Given the description of an element on the screen output the (x, y) to click on. 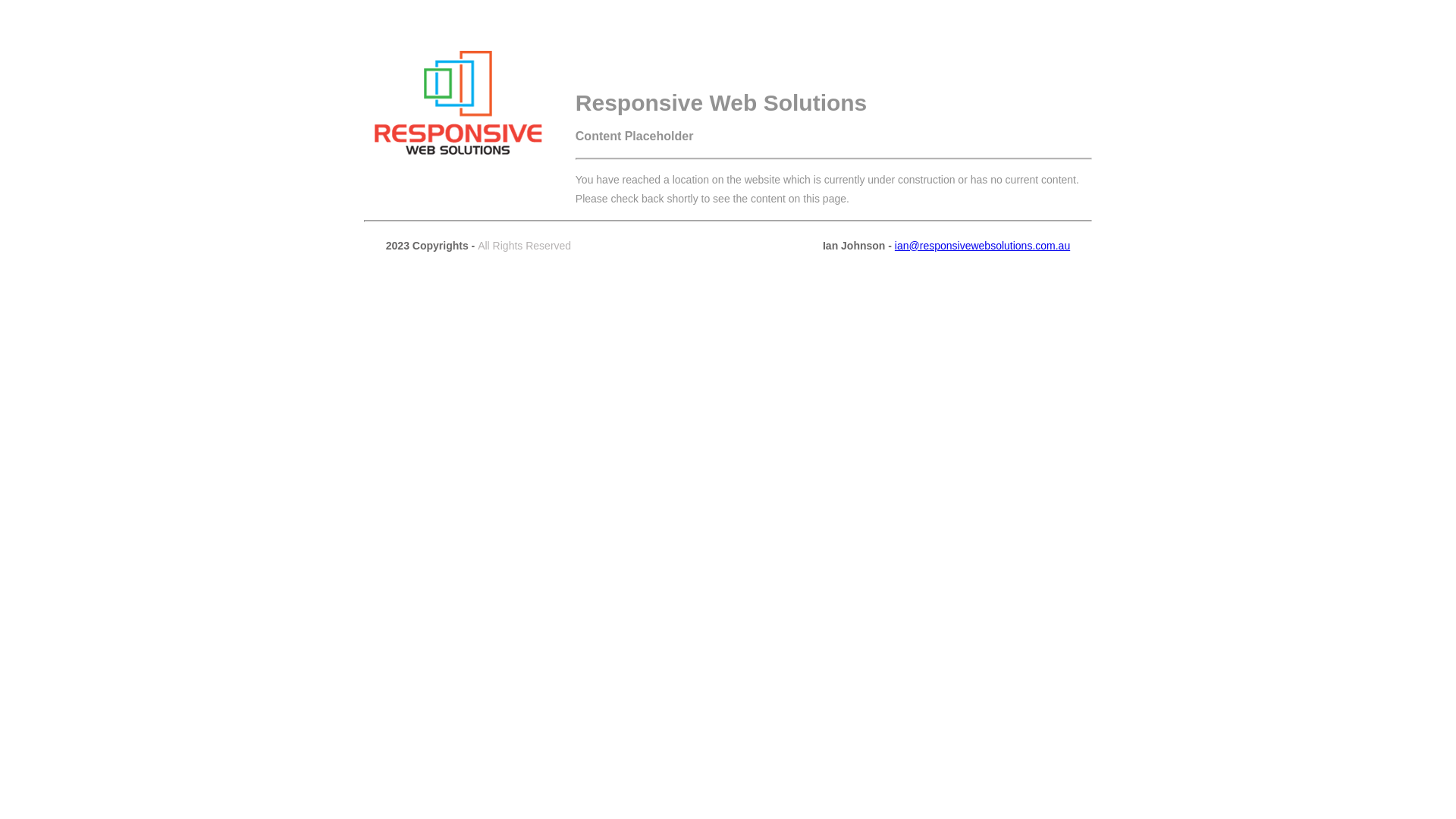
ian@responsivewebsolutions.com.au Element type: text (982, 245)
